Given the description of an element on the screen output the (x, y) to click on. 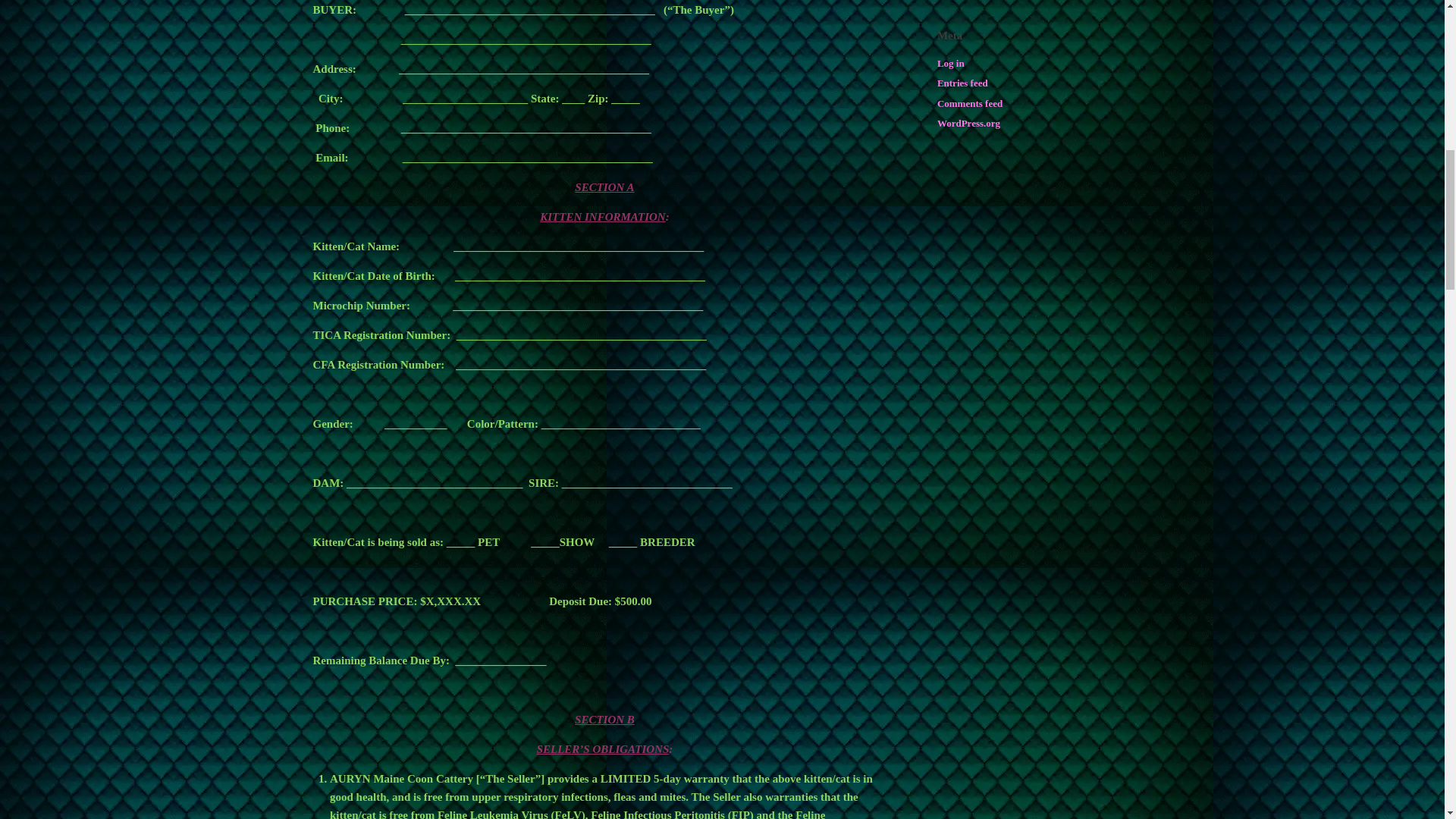
Comments feed (970, 102)
Log in (950, 62)
Entries feed (962, 82)
